Given the description of an element on the screen output the (x, y) to click on. 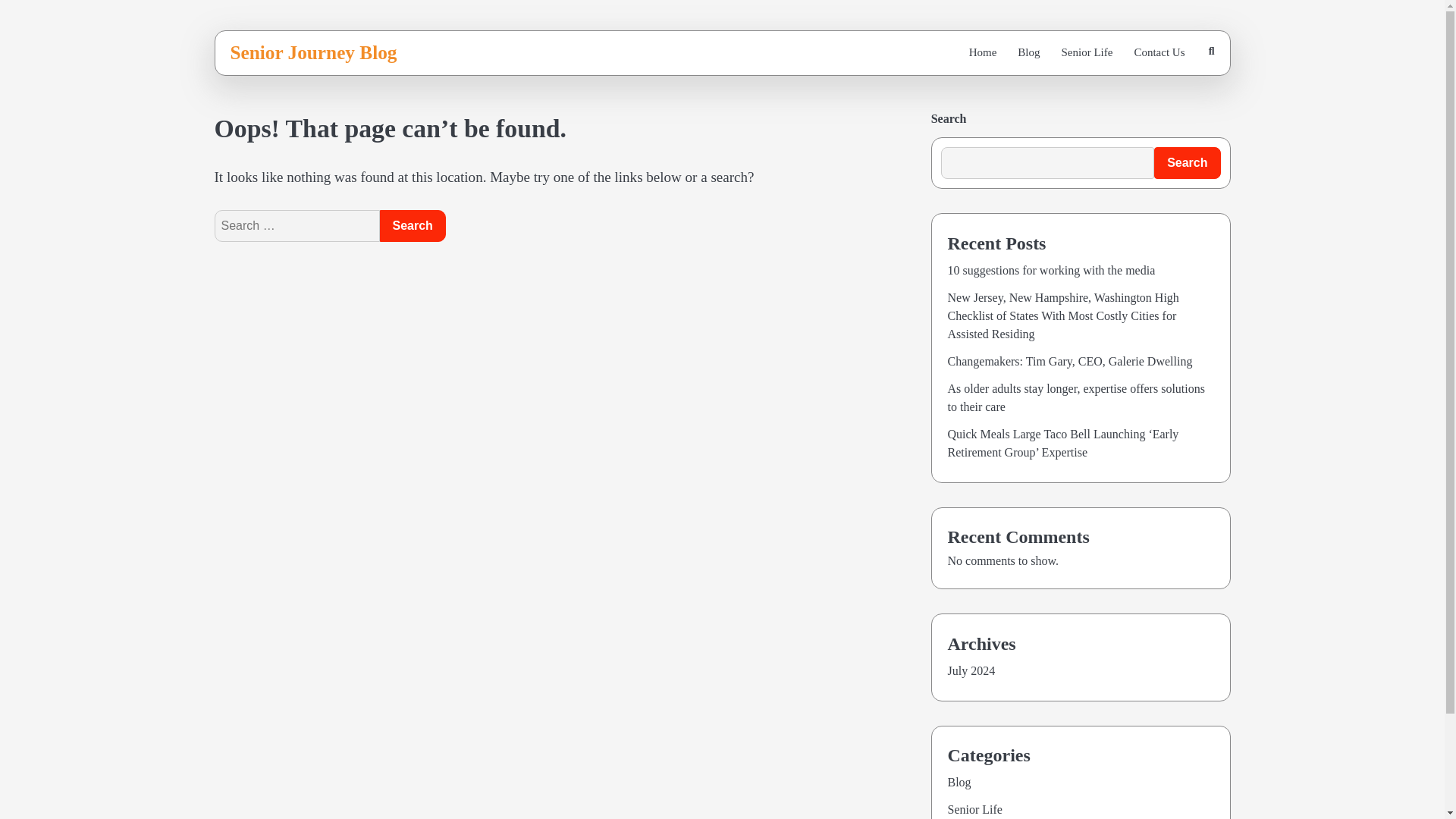
Search (411, 225)
Search (411, 225)
Blog (1028, 52)
Senior Life (975, 809)
Blog (959, 781)
Contact Us (1158, 52)
Senior Journey Blog (313, 52)
Search (1187, 163)
Senior Life (1087, 52)
10 suggestions for working with the media (1051, 269)
Search (1175, 94)
Search (411, 225)
Changemakers: Tim Gary, CEO, Galerie Dwelling (1069, 360)
